Given the description of an element on the screen output the (x, y) to click on. 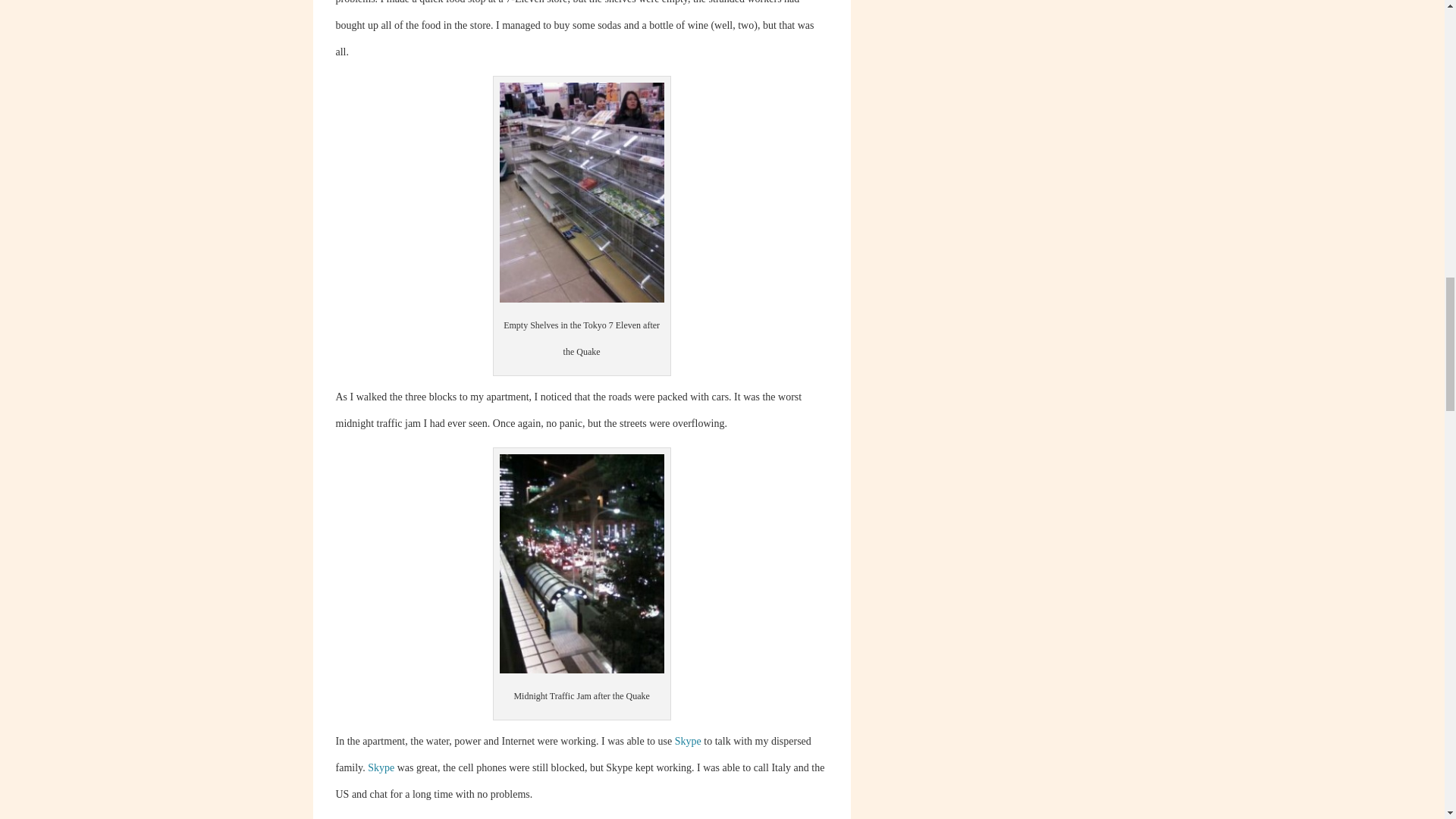
Get Skype. It's Earthquake proof! (688, 740)
Skype (381, 767)
Get Skype! (381, 767)
Skype (688, 740)
